Given the description of an element on the screen output the (x, y) to click on. 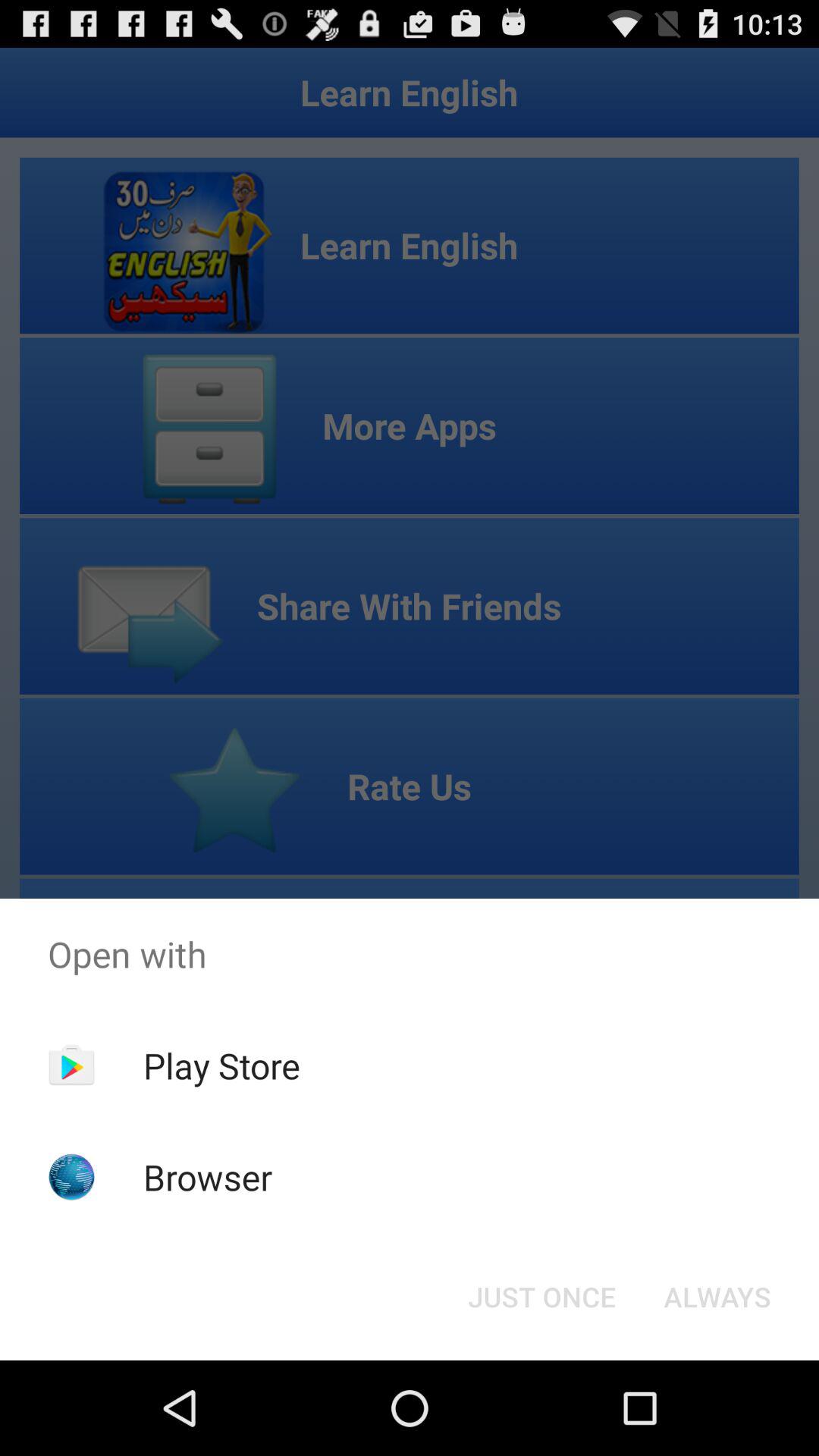
jump until the play store (221, 1065)
